Given the description of an element on the screen output the (x, y) to click on. 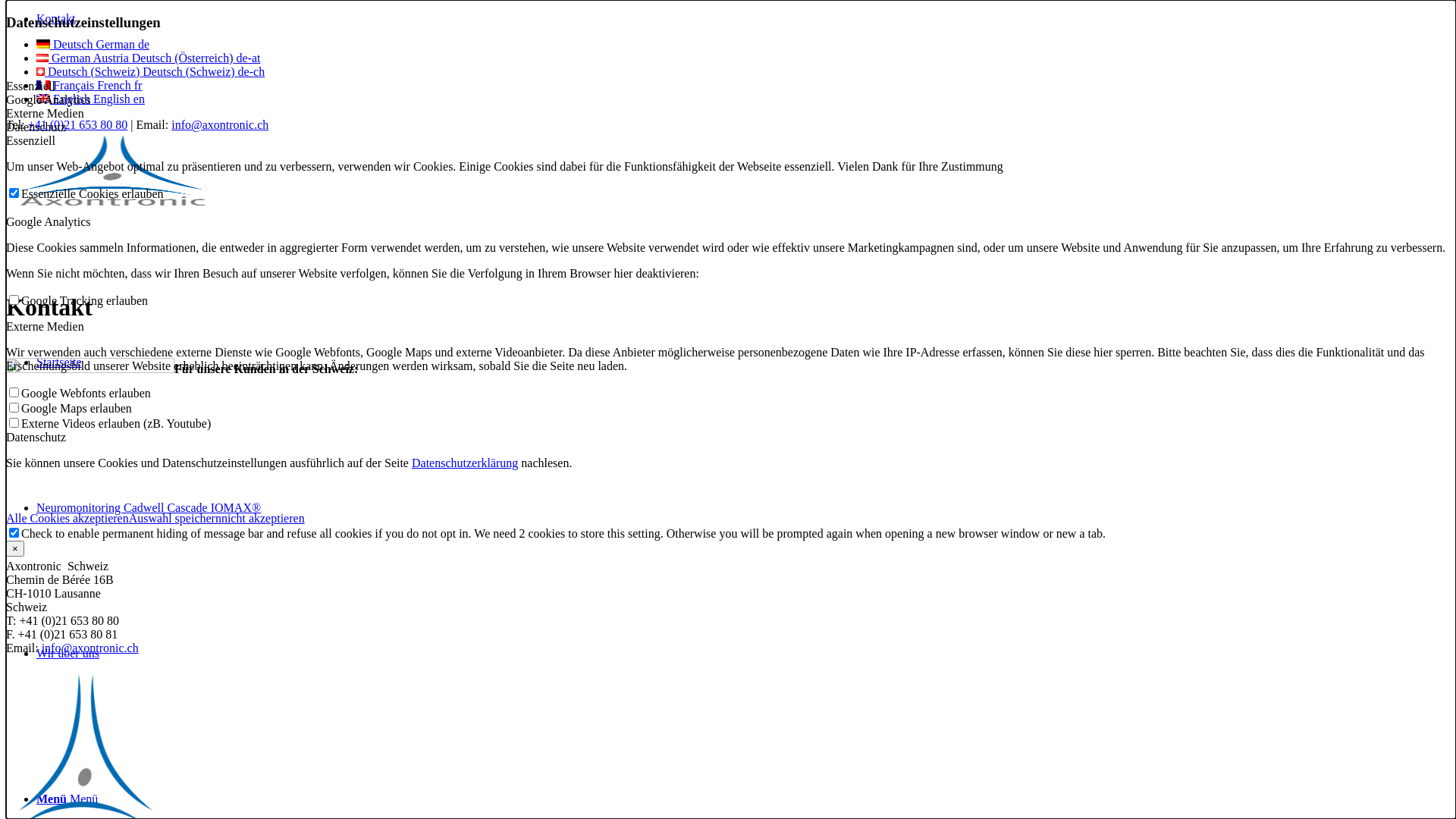
Alle Cookies akzeptieren Element type: text (67, 517)
Startseite Element type: text (58, 361)
nicht akzeptieren Element type: text (262, 517)
Deutsch (Schweiz) Deutsch (Schweiz) de-ch Element type: text (150, 71)
info@axontronic.ch Element type: text (89, 647)
Kontakt Element type: text (55, 18)
+41 (0)21 653 80 80 Element type: text (78, 124)
info@axontronic.ch Element type: text (219, 124)
Auswahl speichern Element type: text (174, 517)
English English en Element type: text (90, 98)
Deutsch German de Element type: text (92, 43)
